Given the description of an element on the screen output the (x, y) to click on. 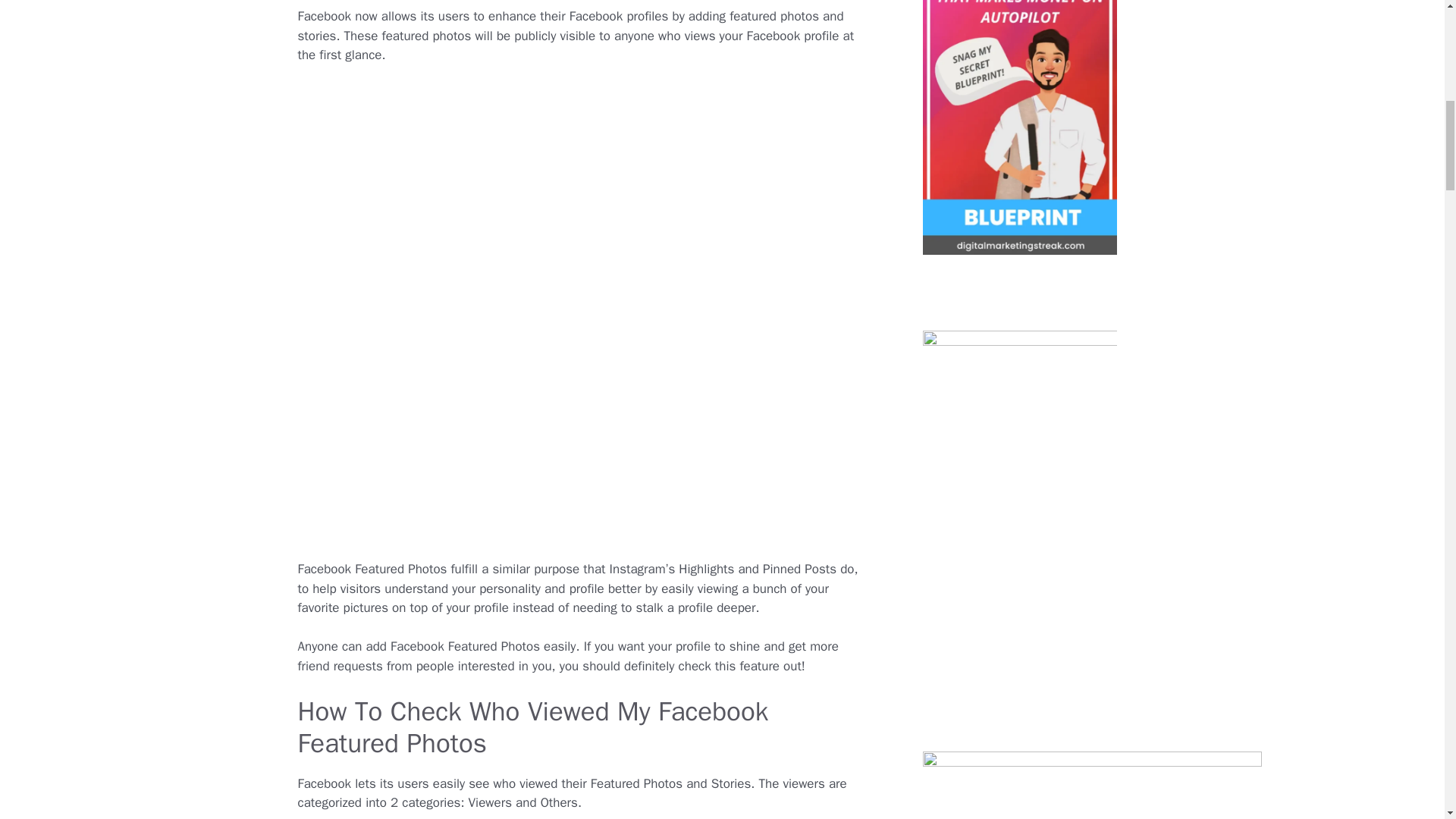
Scroll back to top (1406, 720)
